Given the description of an element on the screen output the (x, y) to click on. 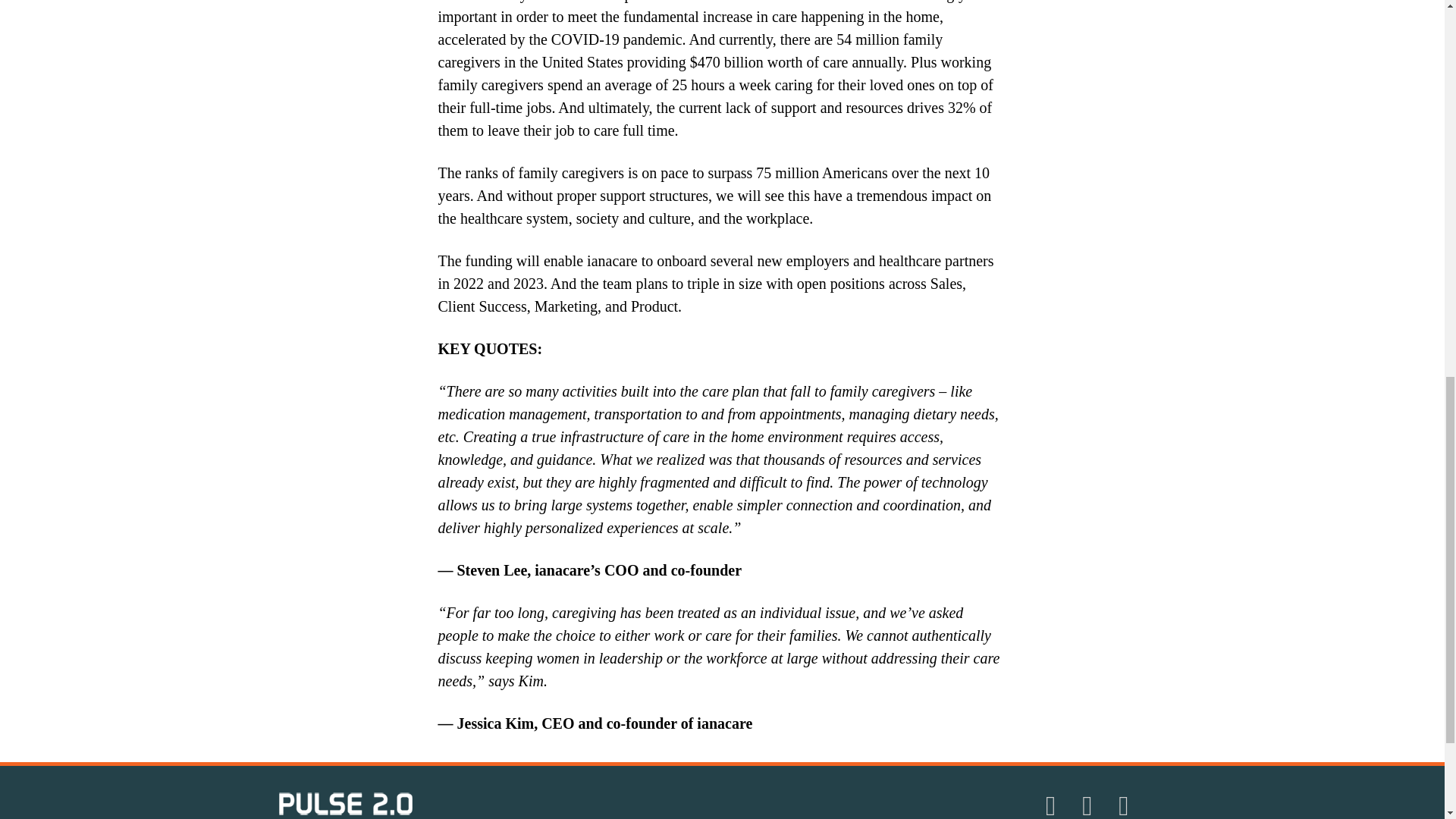
Pulse 2.0 Twitter (1090, 804)
Pulse 2.0 (345, 802)
Pulse 2.0 Facebook (1125, 804)
Pulse 2.0 LinkedIn (1053, 804)
